Given the description of an element on the screen output the (x, y) to click on. 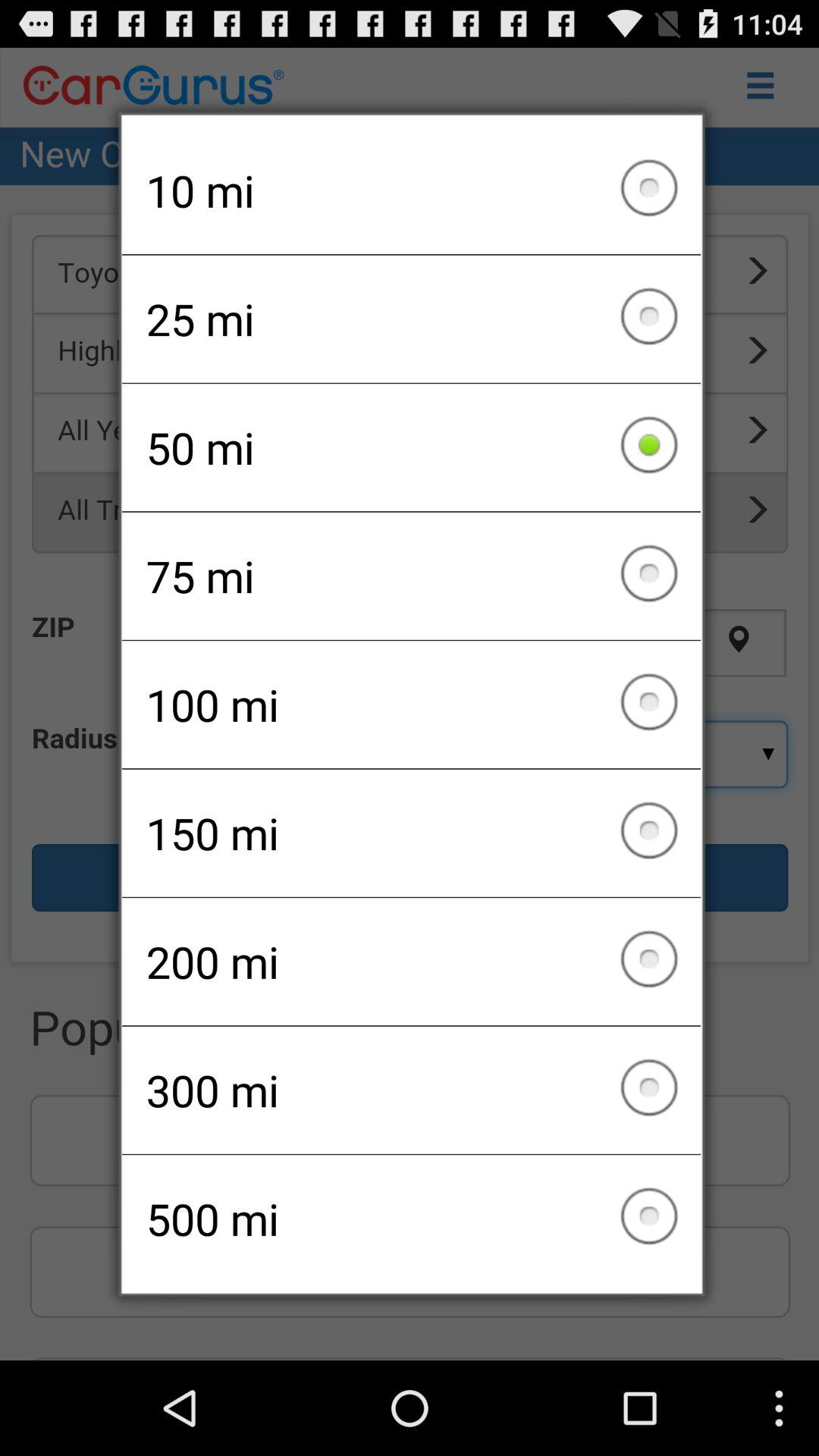
flip to the 25 mi checkbox (411, 318)
